Given the description of an element on the screen output the (x, y) to click on. 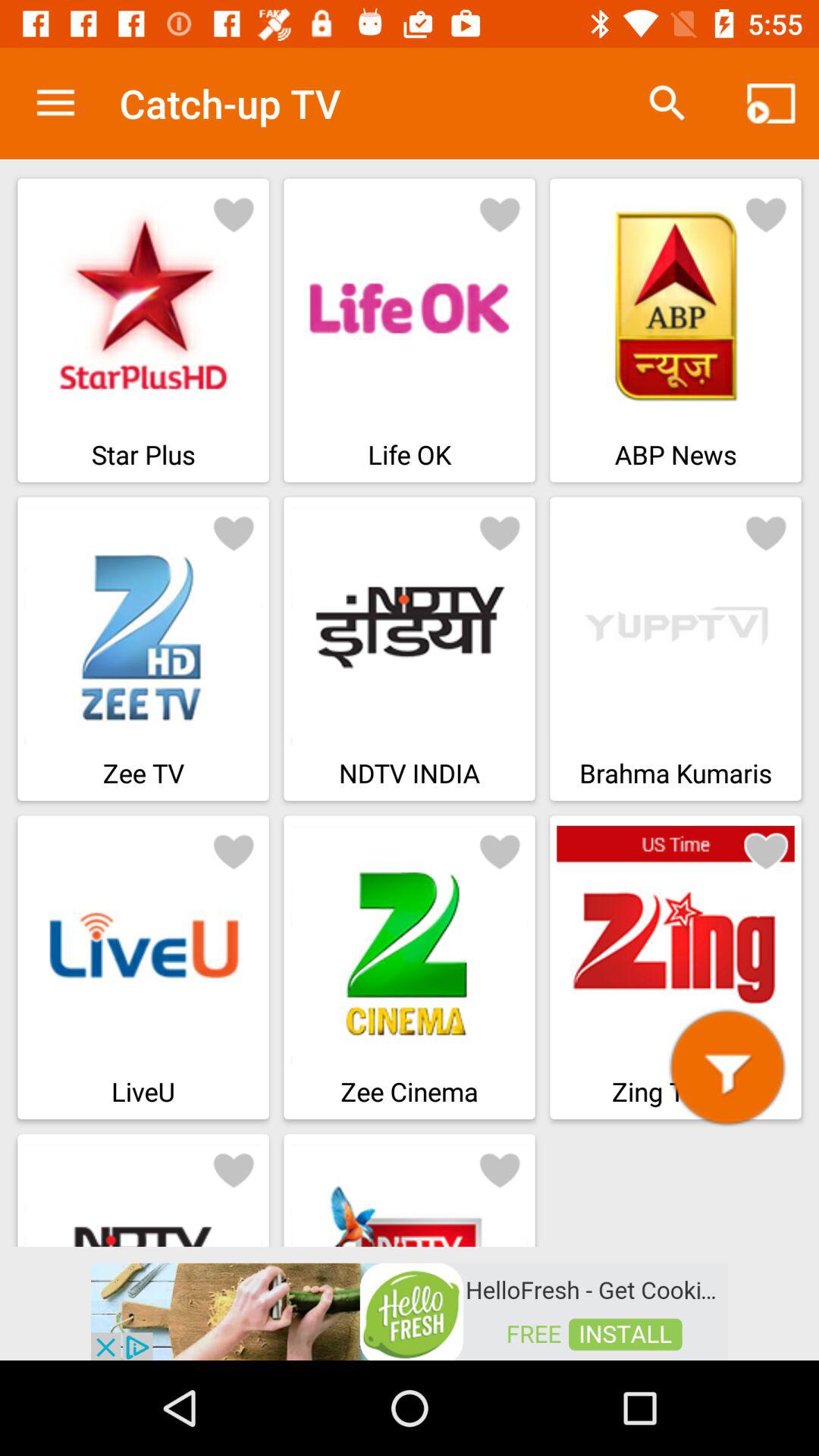
add to favorites (233, 532)
